Given the description of an element on the screen output the (x, y) to click on. 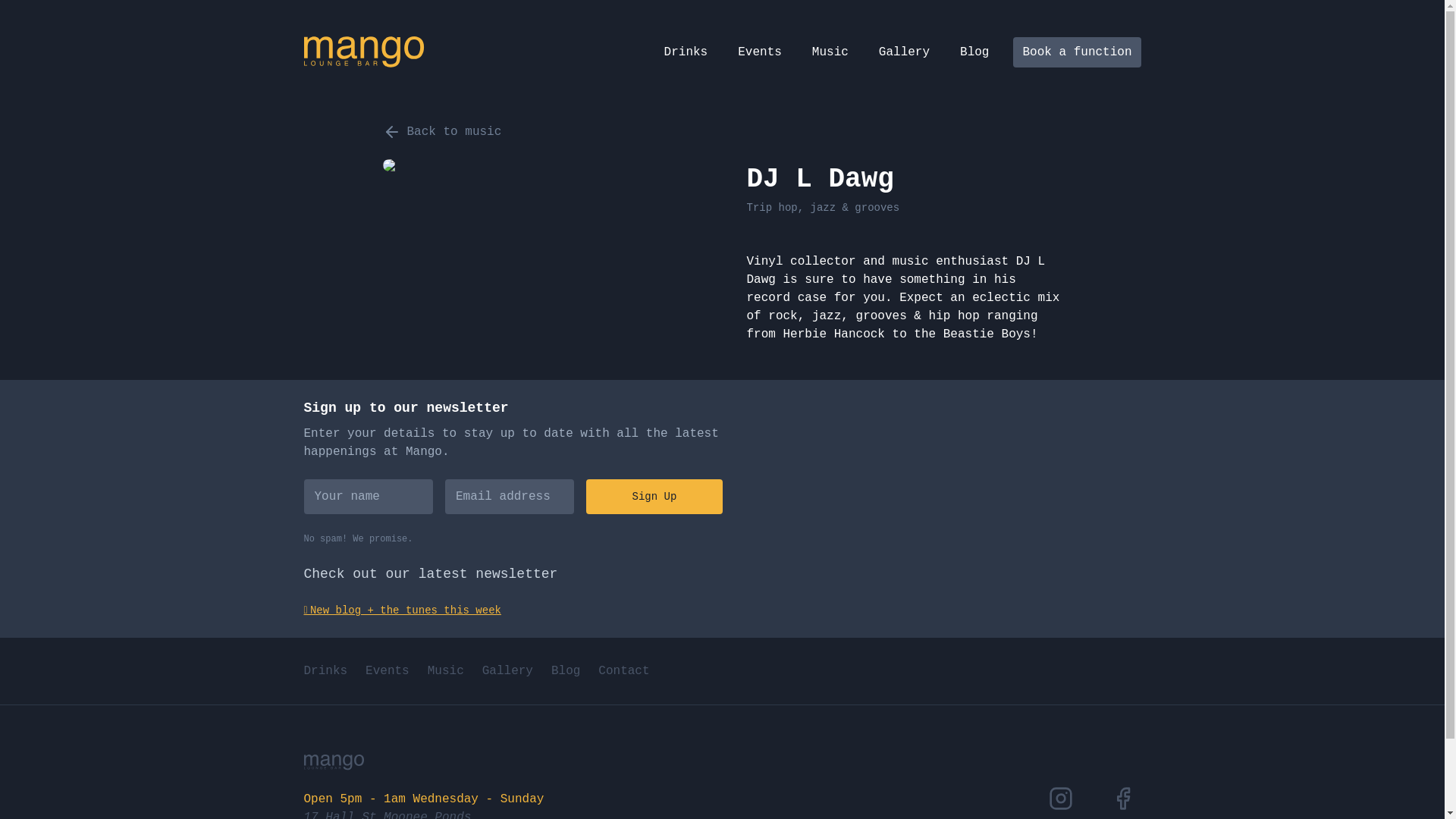
Drinks Element type: text (325, 671)
Gallery Element type: text (903, 52)
Book a function Element type: text (1076, 52)
Contact Element type: text (623, 671)
Blog Element type: text (973, 52)
Music Element type: text (445, 671)
Gallery Element type: text (507, 671)
Events Element type: text (759, 52)
Drinks Element type: text (686, 52)
Music Element type: text (830, 52)
Events Element type: text (387, 671)
Sign Up Element type: text (653, 496)
Blog Element type: text (565, 671)
Back to music Element type: text (441, 131)
